Given the description of an element on the screen output the (x, y) to click on. 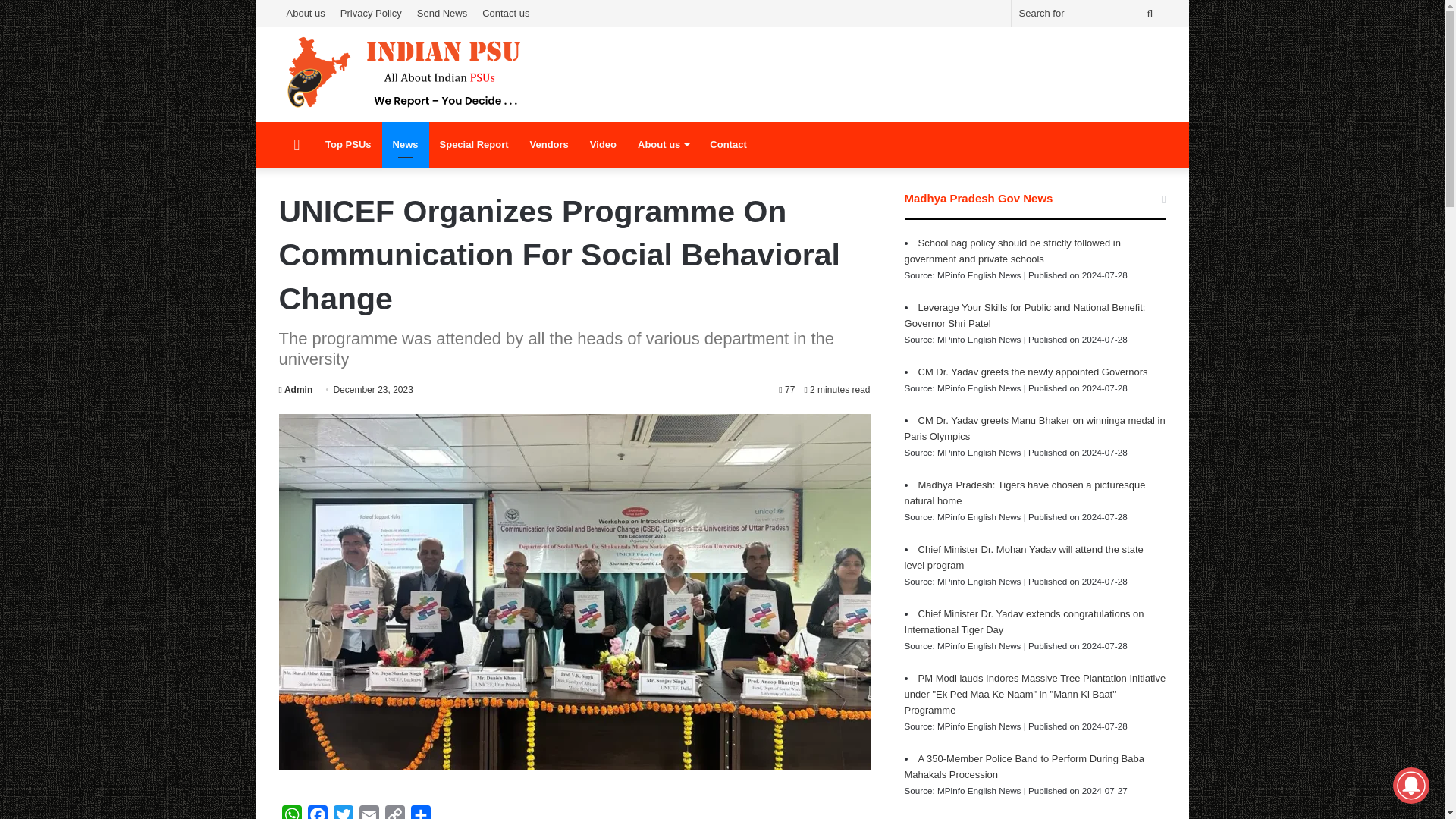
Contact us (505, 13)
Copy Link (394, 812)
Video (603, 144)
Vendors (549, 144)
Email (368, 812)
Twitter (343, 812)
Contact (727, 144)
About us (306, 13)
Search for (1150, 13)
Email (368, 812)
WhatsApp (291, 812)
Twitter (343, 812)
Admin (296, 389)
WhatsApp (291, 812)
About us (662, 144)
